Given the description of an element on the screen output the (x, y) to click on. 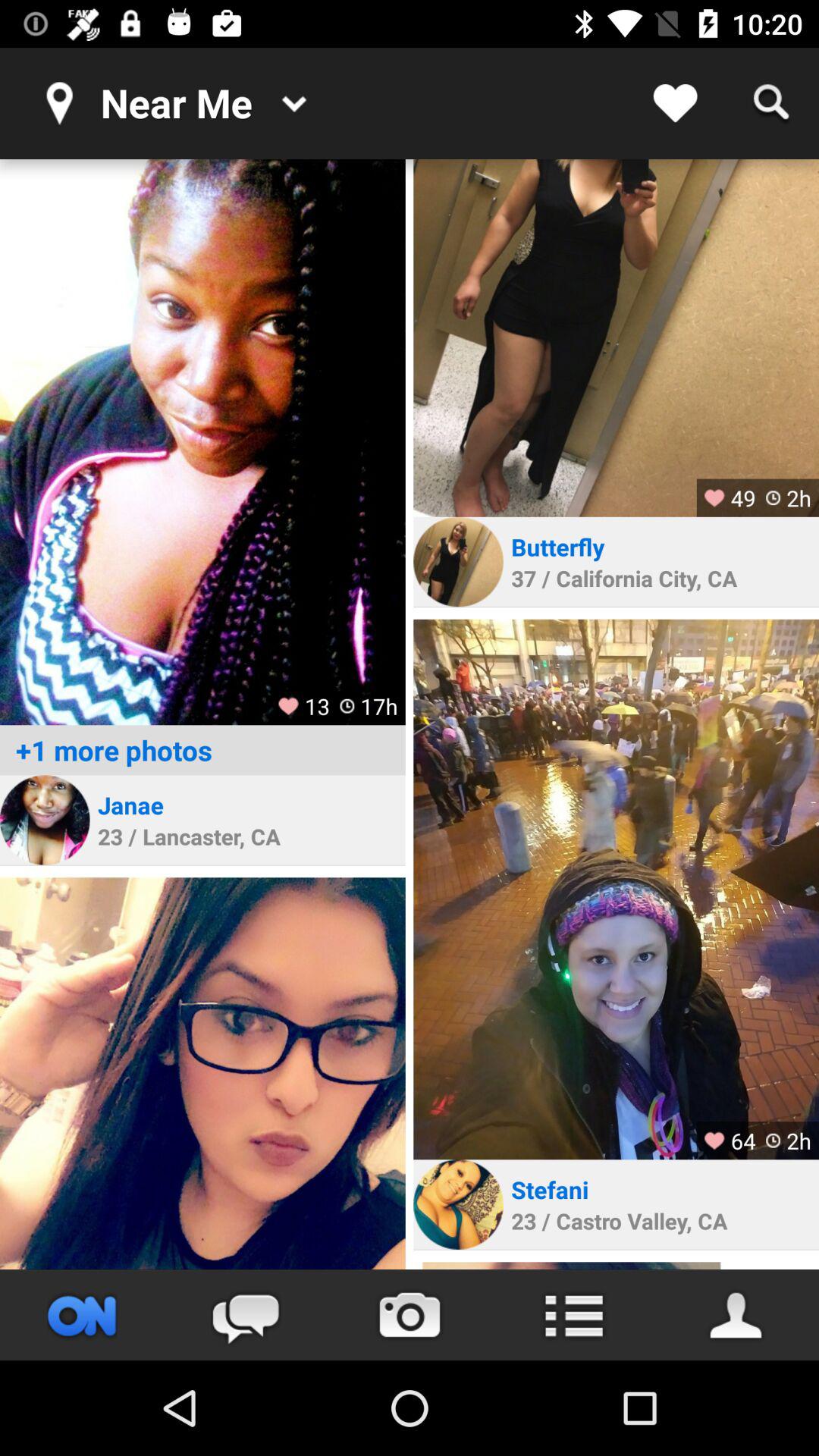
format view (573, 1315)
